Given the description of an element on the screen output the (x, y) to click on. 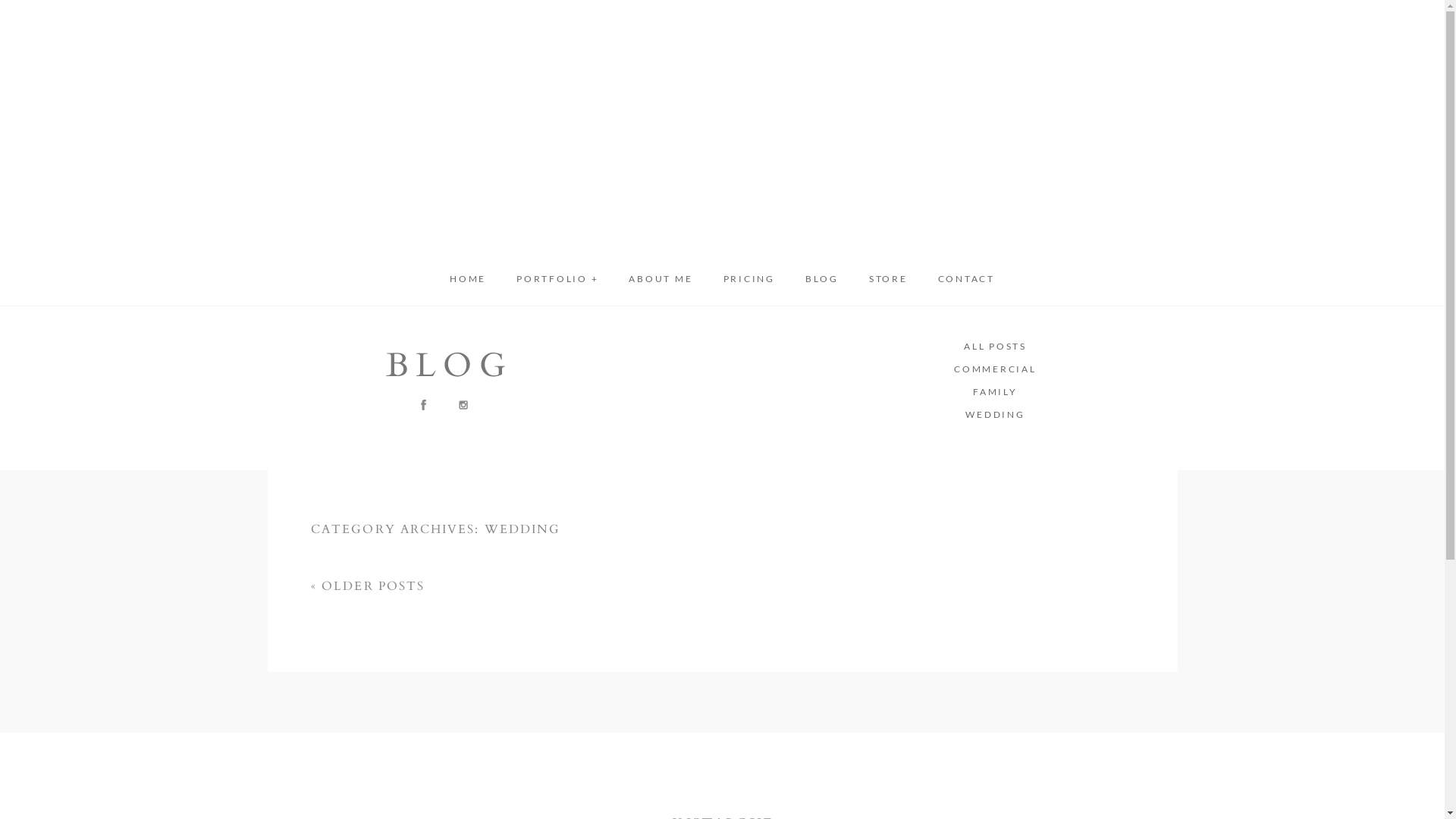
ABOUT ME Element type: text (660, 278)
PORTFOLIO + Element type: text (557, 278)
BLOG Element type: text (821, 278)
FAMILY Element type: text (994, 391)
COMMERCIAL Element type: text (994, 368)
CONTACT Element type: text (966, 278)
STORE Element type: text (888, 278)
PRICING Element type: text (749, 278)
HOME Element type: text (467, 278)
ALL POSTS Element type: text (994, 346)
WEDDING Element type: text (994, 414)
